Given the description of an element on the screen output the (x, y) to click on. 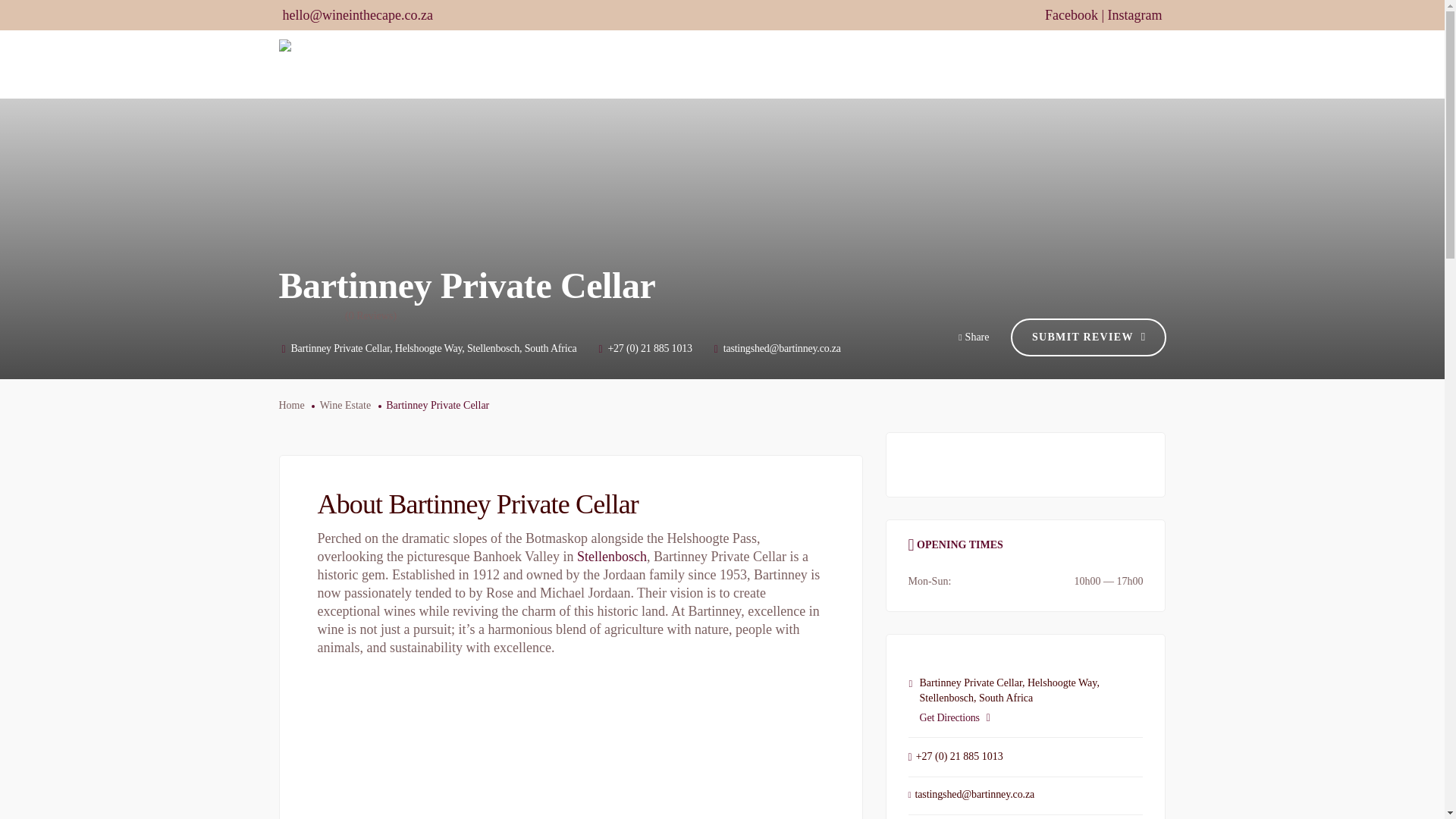
Wine Tours (799, 64)
Explore (950, 64)
Instagram (1134, 14)
Cape Wine Blog (1037, 64)
Weddings (879, 64)
Cape Wine Routes (694, 64)
Contact Us (1132, 64)
Facebook (1071, 14)
Home (605, 64)
